Given the description of an element on the screen output the (x, y) to click on. 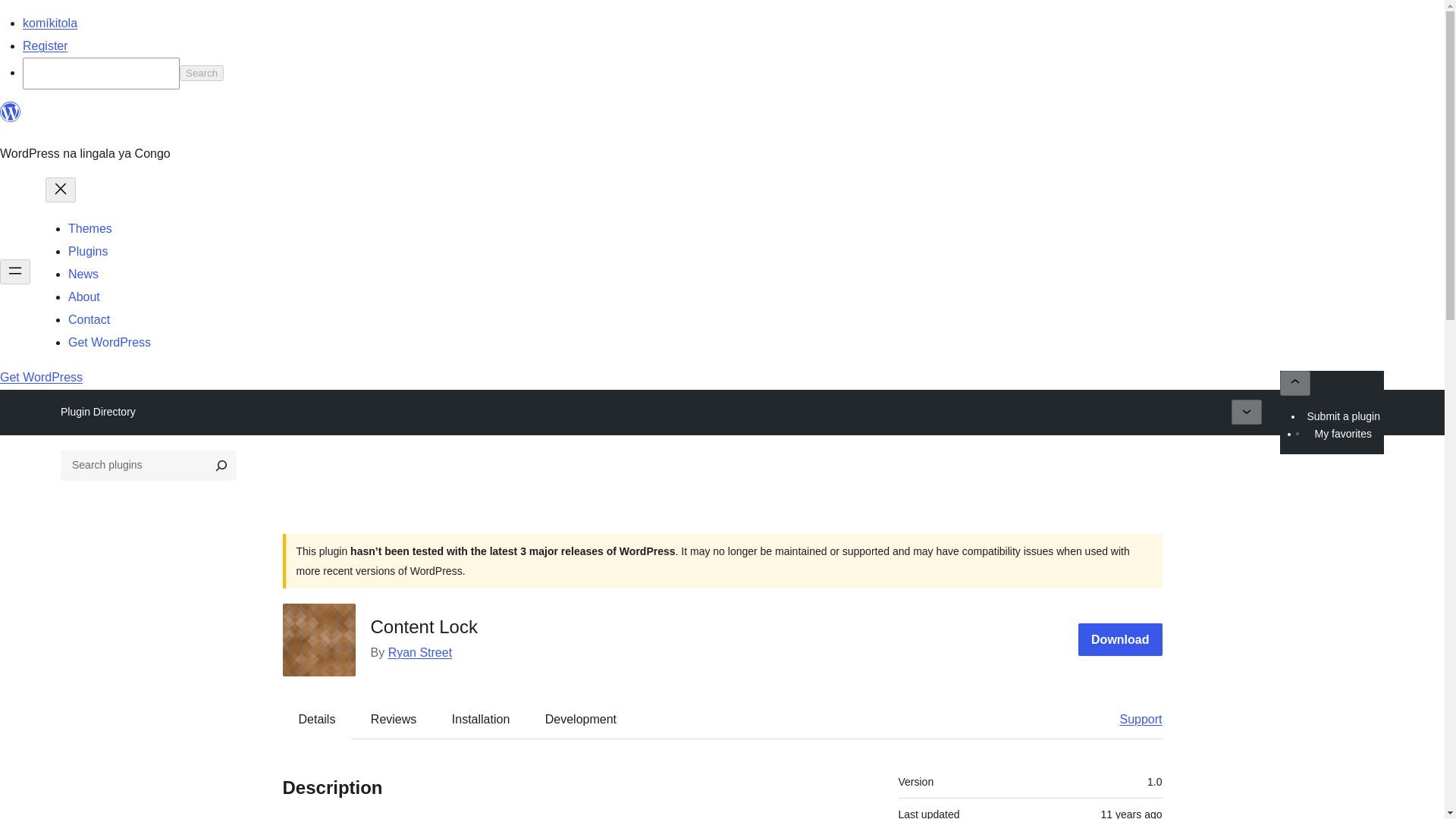
WordPress.org (10, 118)
Themes (90, 228)
About (84, 296)
Register (45, 45)
News (83, 273)
Search (201, 73)
Submit a plugin (1343, 415)
Plugins (87, 250)
Support (1132, 718)
Installation (480, 718)
Development (580, 718)
Ryan Street (419, 652)
Search (201, 73)
Get WordPress (41, 377)
Plugin Directory (97, 411)
